Given the description of an element on the screen output the (x, y) to click on. 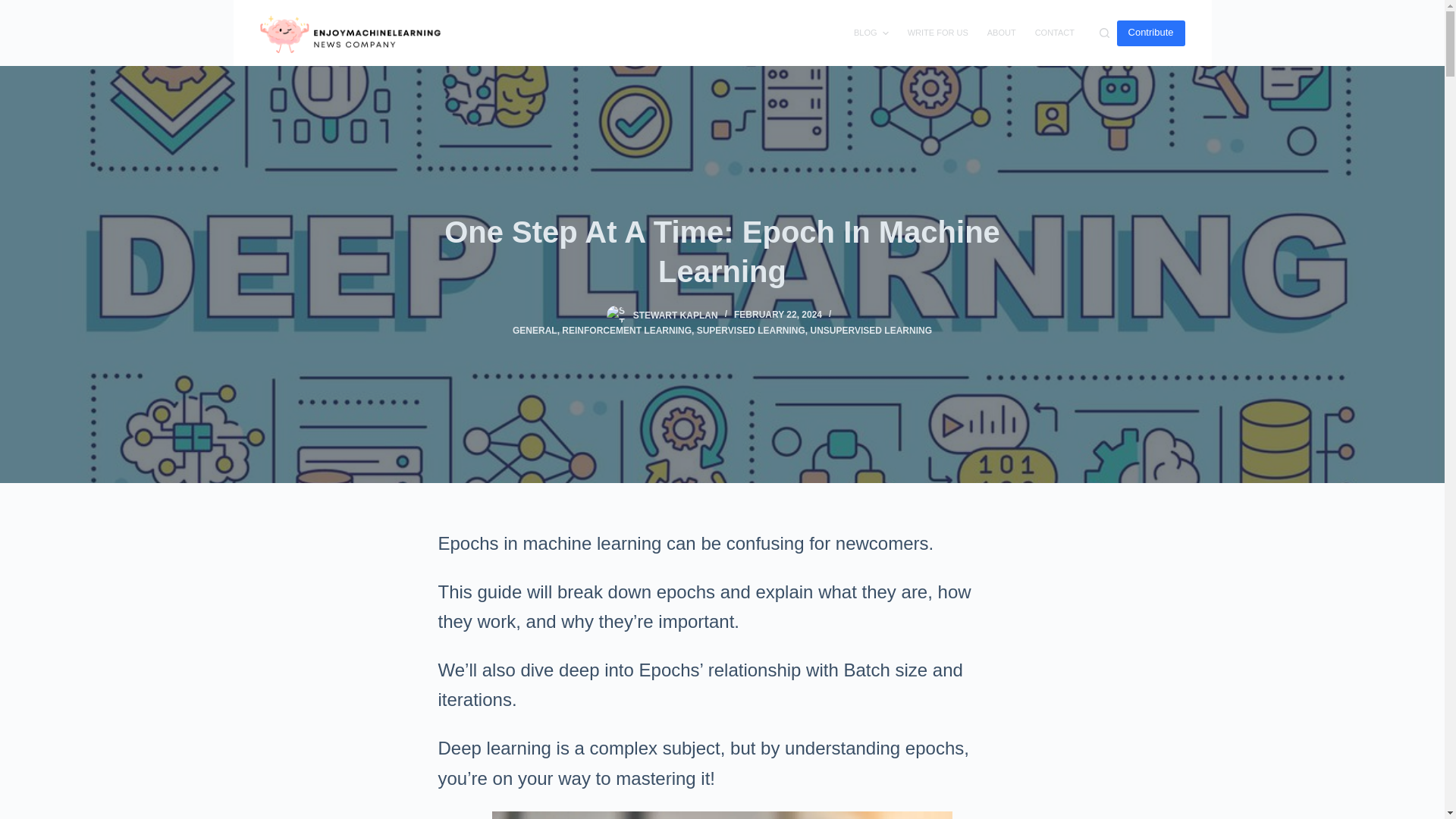
Skip to content (15, 7)
WRITE FOR US (937, 33)
SUPERVISED LEARNING (751, 330)
Contribute (1150, 32)
GENERAL (534, 330)
One Step At A Time: Epoch In Machine Learning (722, 251)
STEWART KAPLAN (675, 314)
Posts by Stewart Kaplan (675, 314)
REINFORCEMENT LEARNING (626, 330)
UNSUPERVISED LEARNING (870, 330)
